Given the description of an element on the screen output the (x, y) to click on. 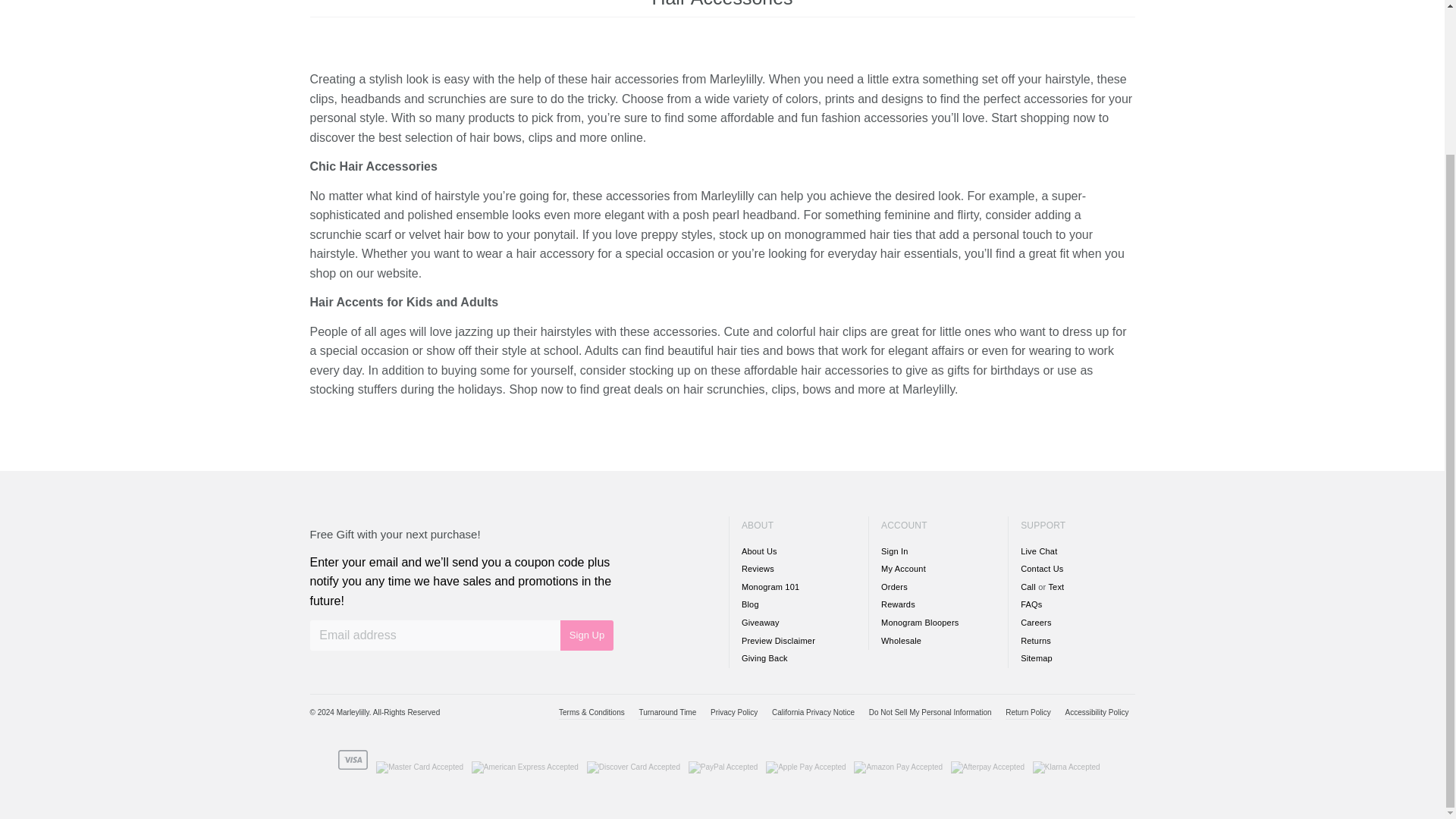
Sign Up (586, 634)
